Given the description of an element on the screen output the (x, y) to click on. 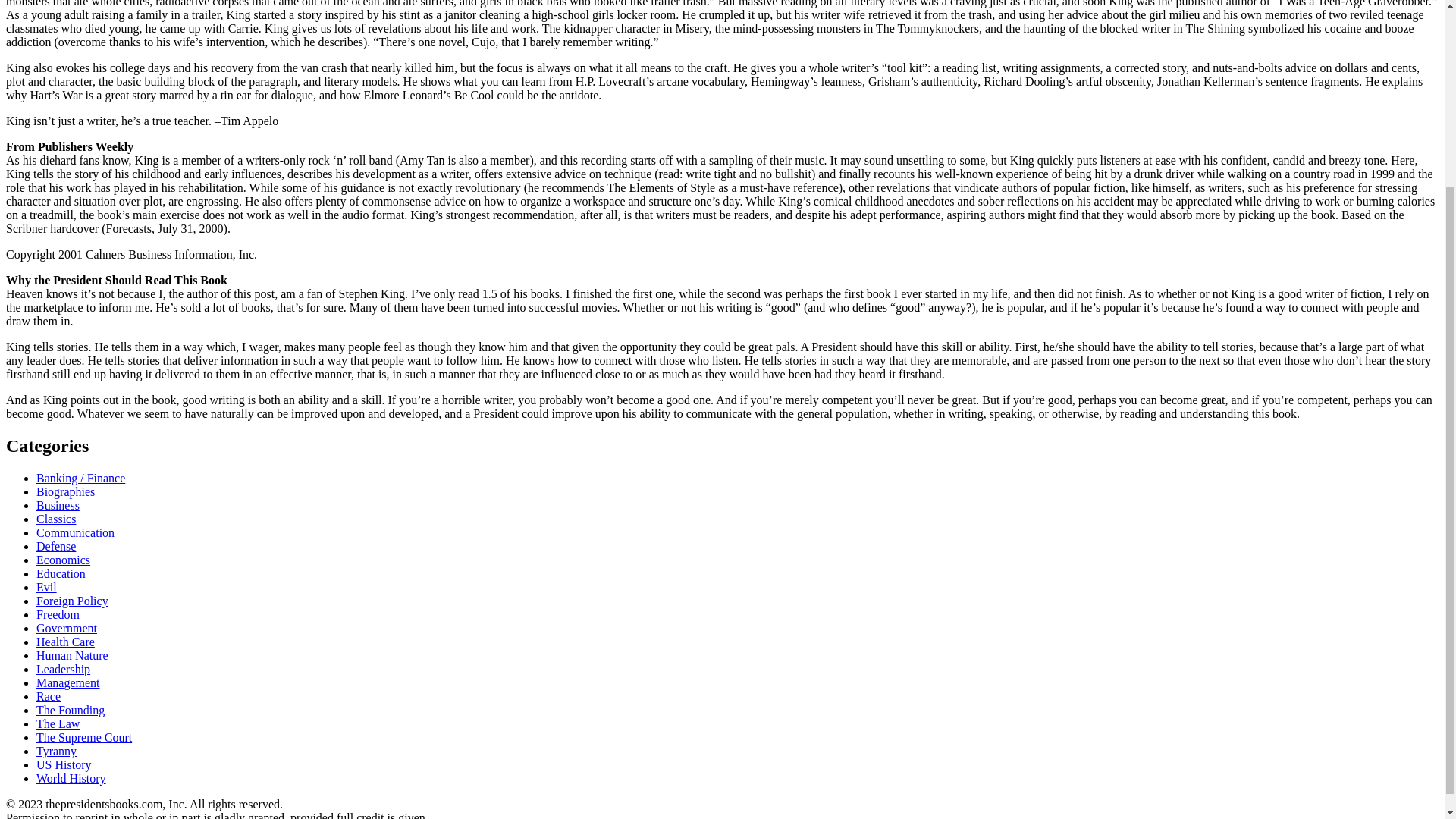
Communication (75, 532)
Management (68, 682)
Human Nature (71, 655)
The Founding (70, 709)
Freedom (58, 614)
Race (48, 696)
US History (63, 764)
Evil (46, 586)
Foreign Policy (71, 600)
Biographies (65, 491)
Education (60, 573)
Business (58, 504)
Tyranny (56, 750)
Leadership (63, 668)
Government (66, 627)
